Given the description of an element on the screen output the (x, y) to click on. 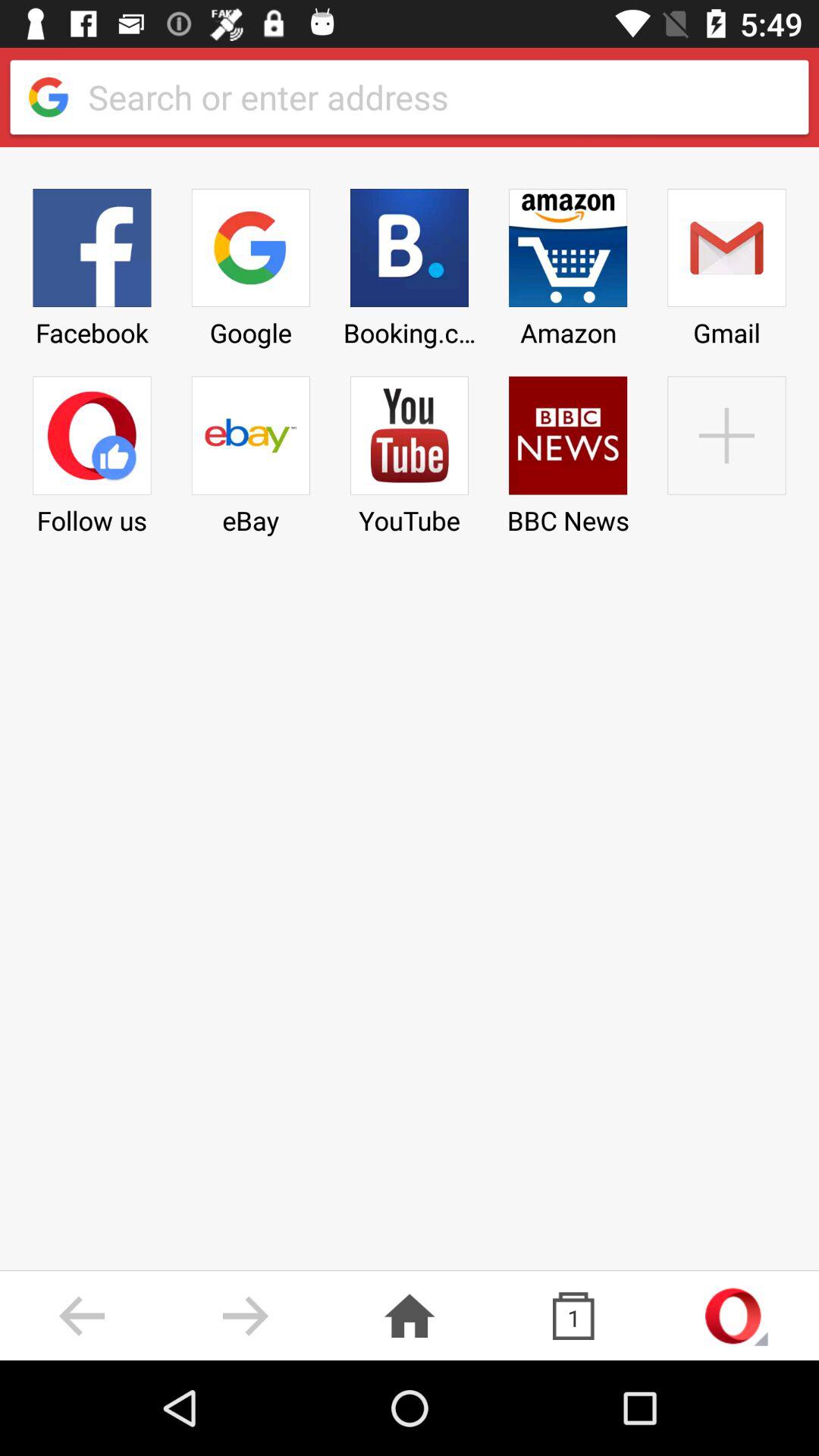
add a bookmark (726, 450)
